Given the description of an element on the screen output the (x, y) to click on. 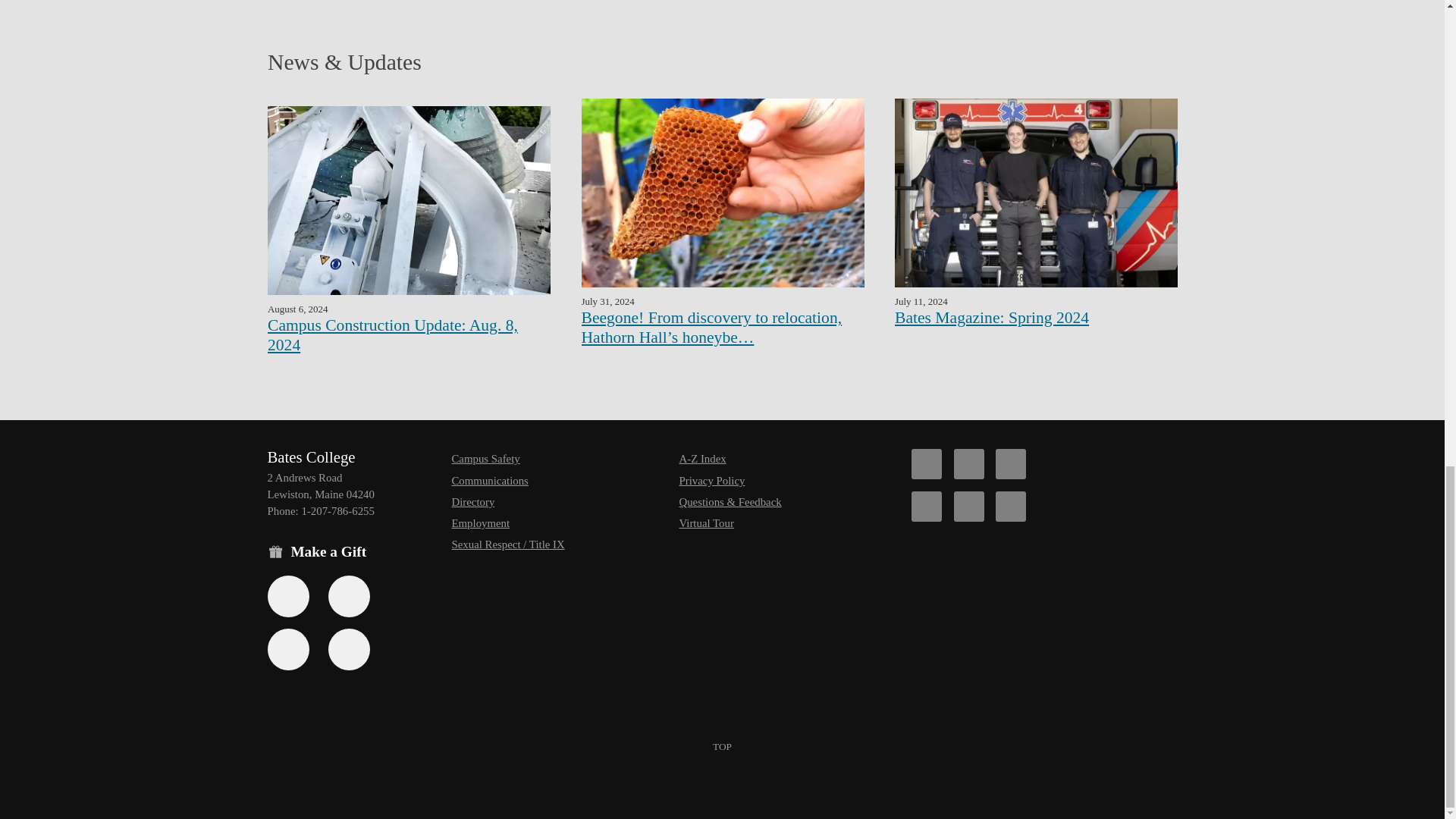
Use your Amazon account to make a gift. (348, 596)
LinkedIn icon (1010, 506)
Instagram icon (926, 506)
Twitter icon (968, 463)
YouTube icon (968, 506)
Tiktok icon (1010, 463)
Facebook icon (926, 463)
Use GiveCampus to make a gift. (348, 649)
Use your PayPal account to make a gift. (287, 649)
